Given the description of an element on the screen output the (x, y) to click on. 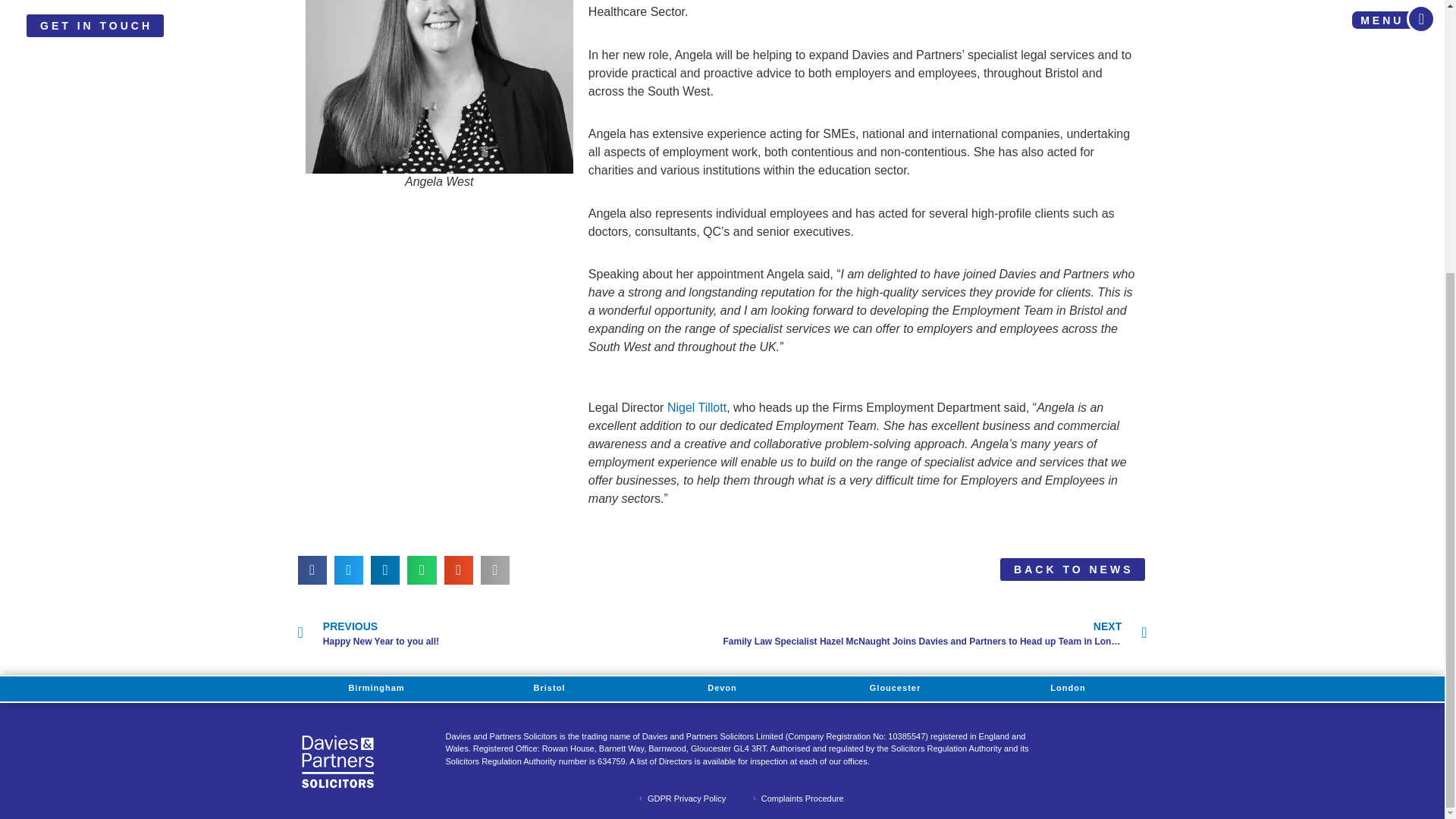
GDPR Privacy Policy (681, 798)
Nigel Tillott (696, 407)
Birmingham (375, 688)
Complaints Procedure (797, 798)
BACK TO NEWS (1072, 569)
Gloucester (508, 633)
Bristol (894, 688)
London (550, 688)
